Given the description of an element on the screen output the (x, y) to click on. 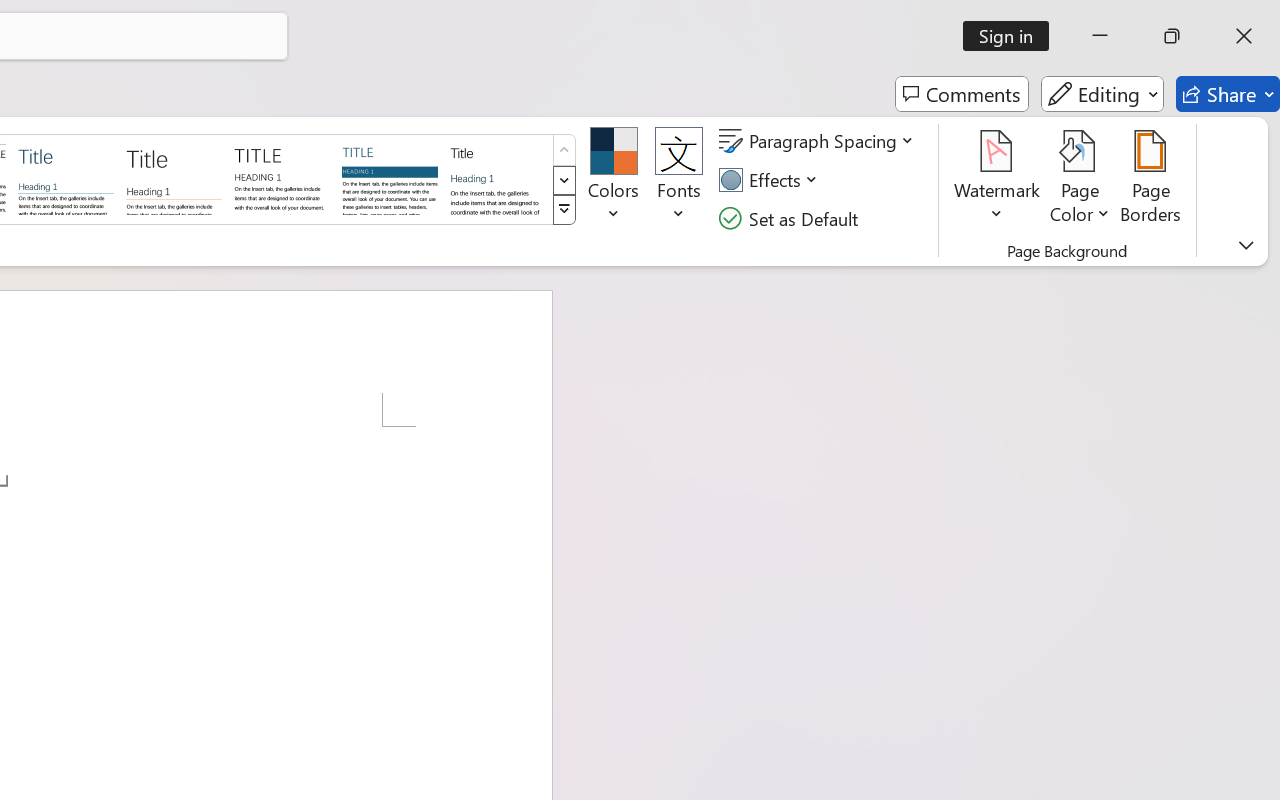
Editing (1101, 94)
Effects (771, 179)
Colors (613, 179)
Page Borders... (1151, 179)
Paragraph Spacing (819, 141)
Shaded (389, 178)
